Given the description of an element on the screen output the (x, y) to click on. 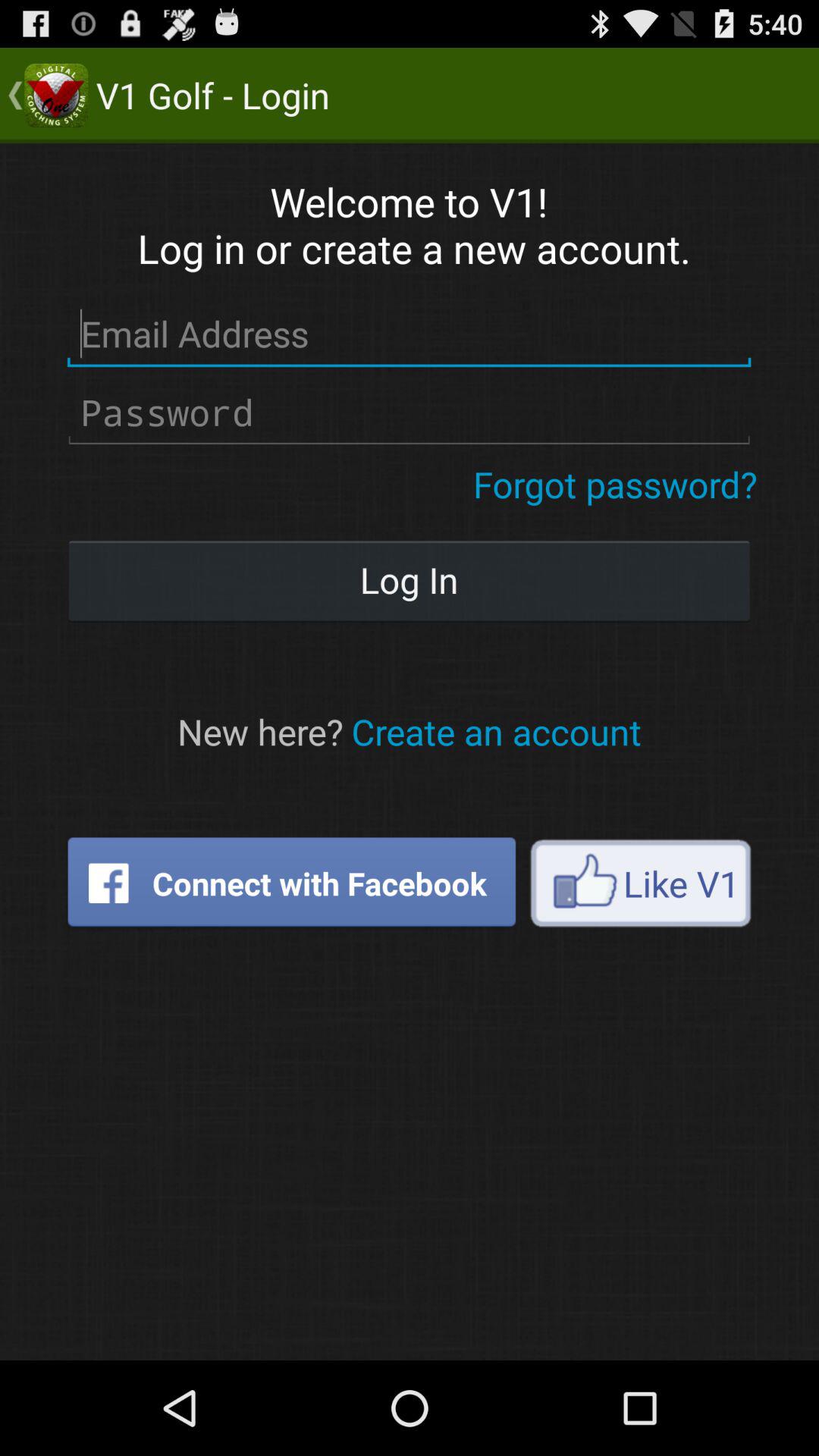
turn on icon to the left of like v1 button (291, 883)
